Given the description of an element on the screen output the (x, y) to click on. 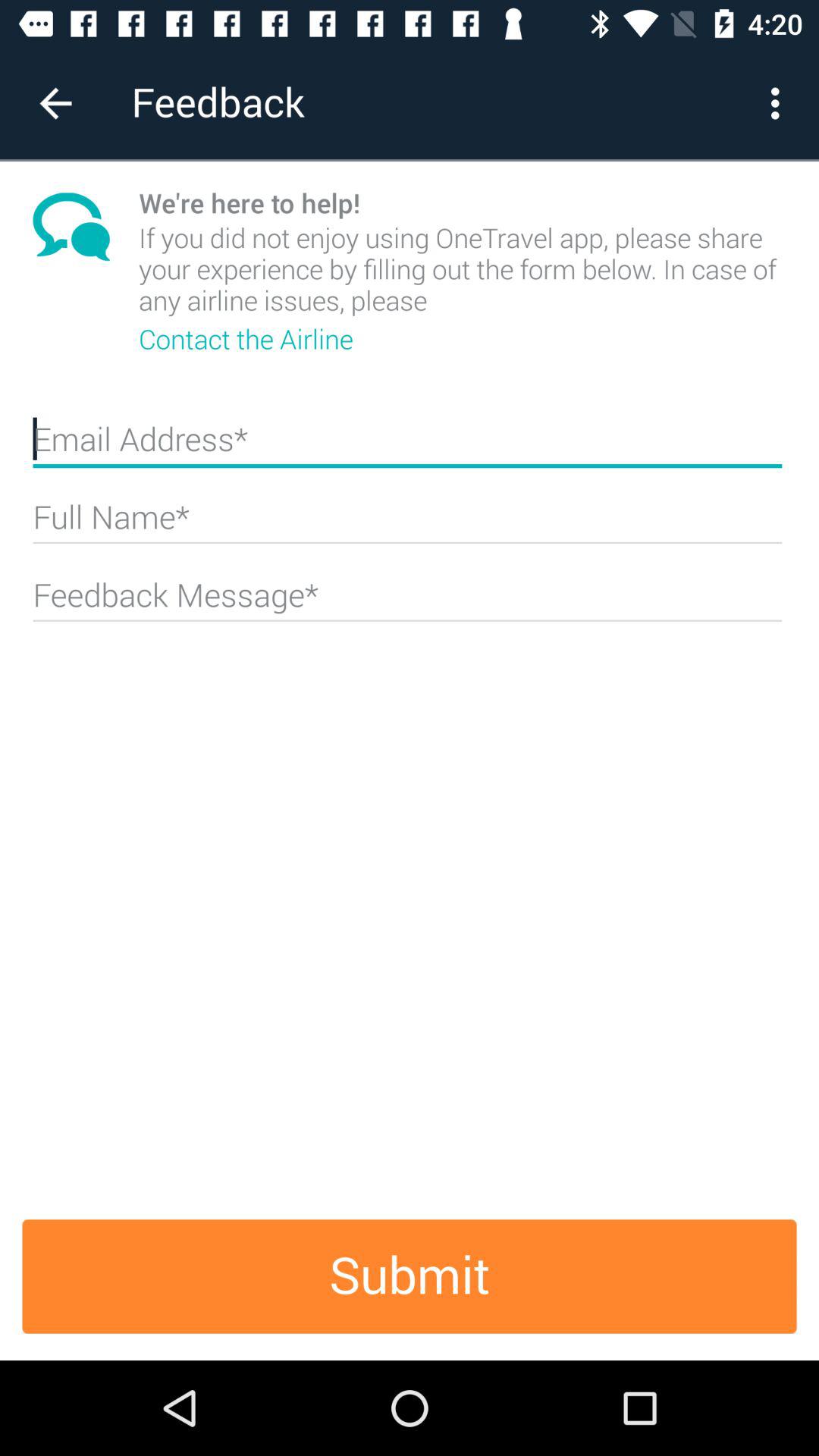
launch item to the right of feedback icon (779, 103)
